Given the description of an element on the screen output the (x, y) to click on. 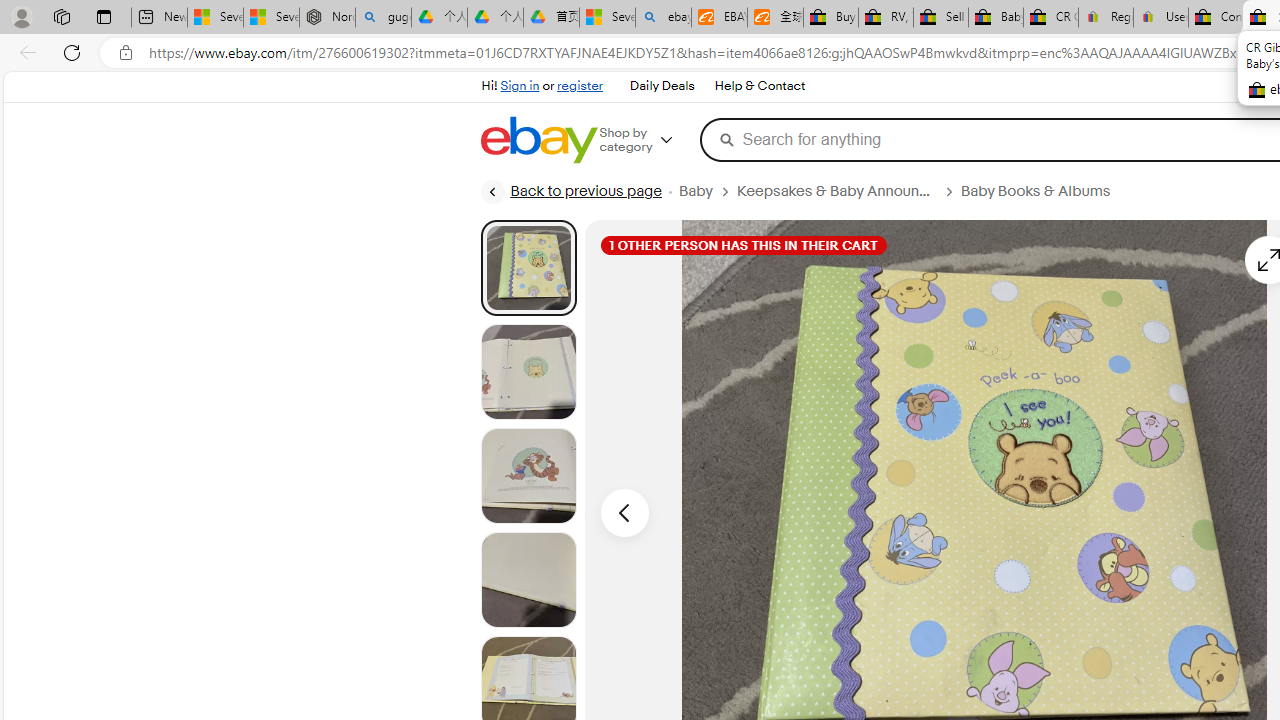
RV, Trailer & Camper Steps & Ladders for sale | eBay (885, 17)
Help & Contact (758, 85)
eBay Home (538, 139)
Picture 2 of 22 (528, 371)
Personal Profile (21, 16)
Keepsakes & Baby Announcements (836, 191)
Picture 1 of 22 (528, 267)
Help & Contact (760, 86)
Back (24, 52)
register (579, 85)
Baby (695, 191)
Picture 4 of 22 (528, 579)
Picture 3 of 22 (528, 475)
